Given the description of an element on the screen output the (x, y) to click on. 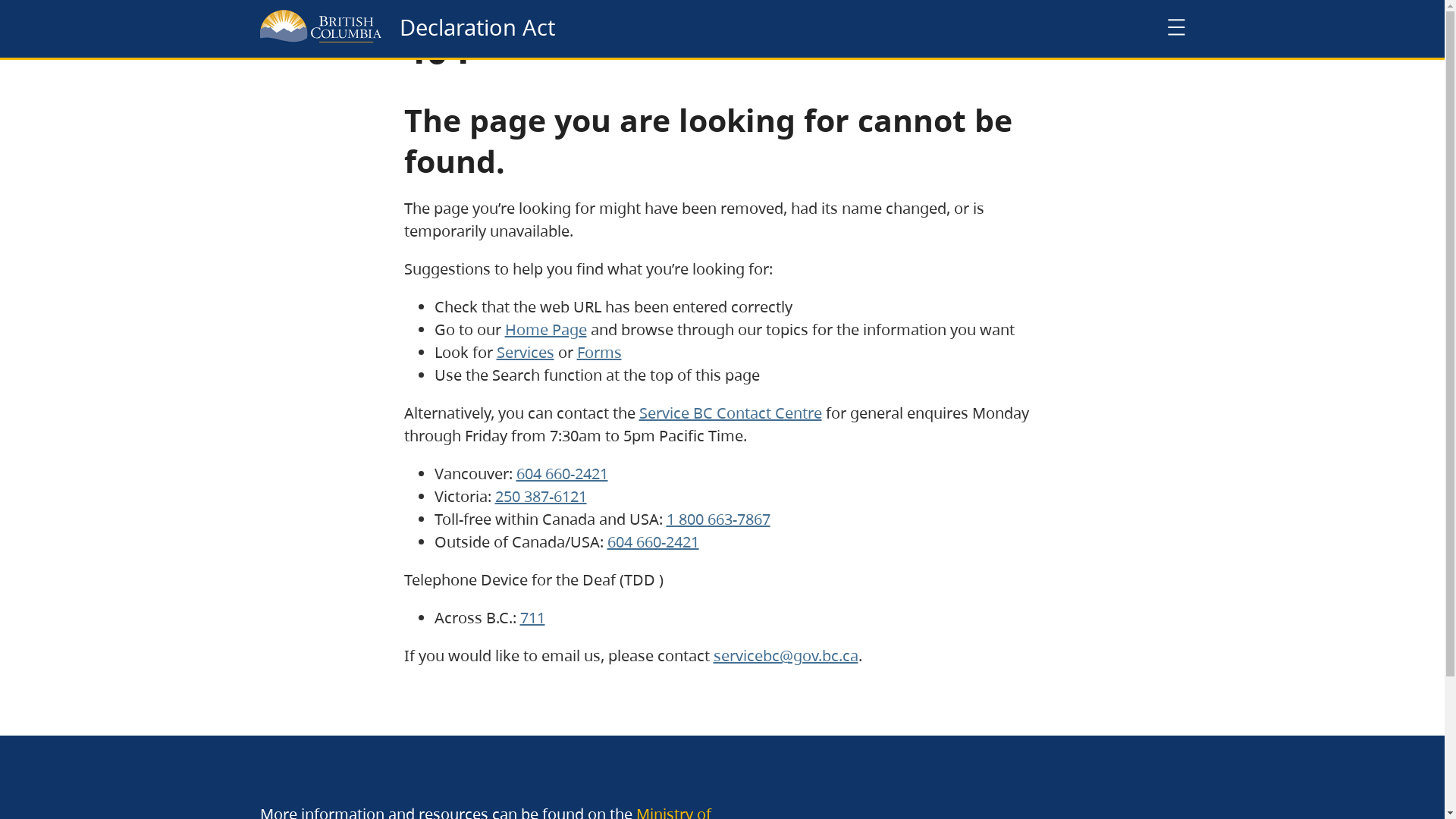
Service BC Contact Centre Element type: text (729, 412)
Forms Element type: text (598, 352)
Declaration Act Element type: text (476, 26)
servicebc@gov.bc.ca Element type: text (784, 655)
Services Element type: text (524, 352)
1 800 663-7867 Element type: text (717, 518)
711 Element type: text (532, 617)
604 660-2421 Element type: text (652, 541)
Home Page Element type: text (545, 329)
604 660-2421 Element type: text (561, 473)
250 387-6121 Element type: text (540, 496)
